Given the description of an element on the screen output the (x, y) to click on. 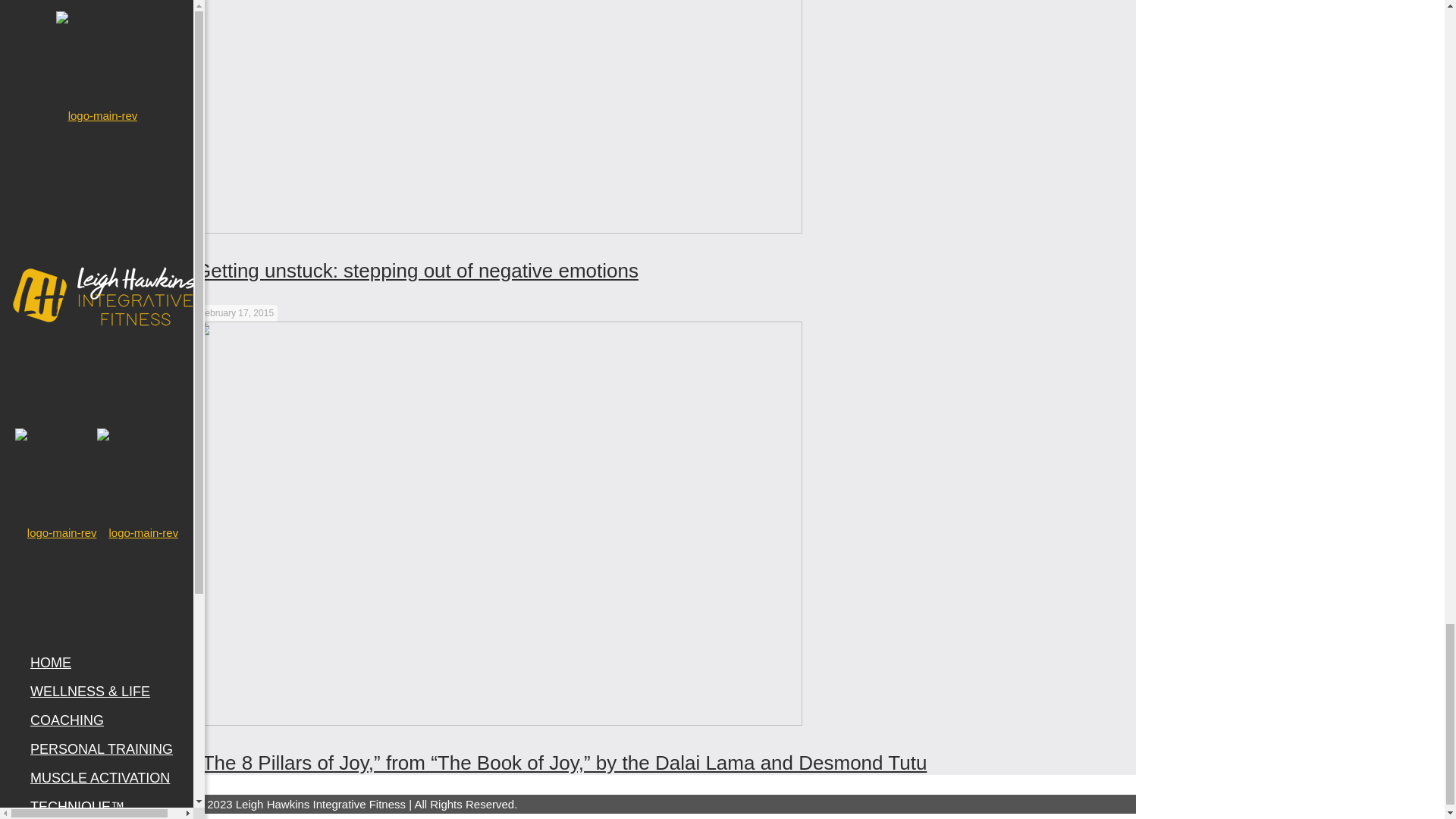
Getting unstuck: stepping out of negative emotions (417, 270)
